Given the description of an element on the screen output the (x, y) to click on. 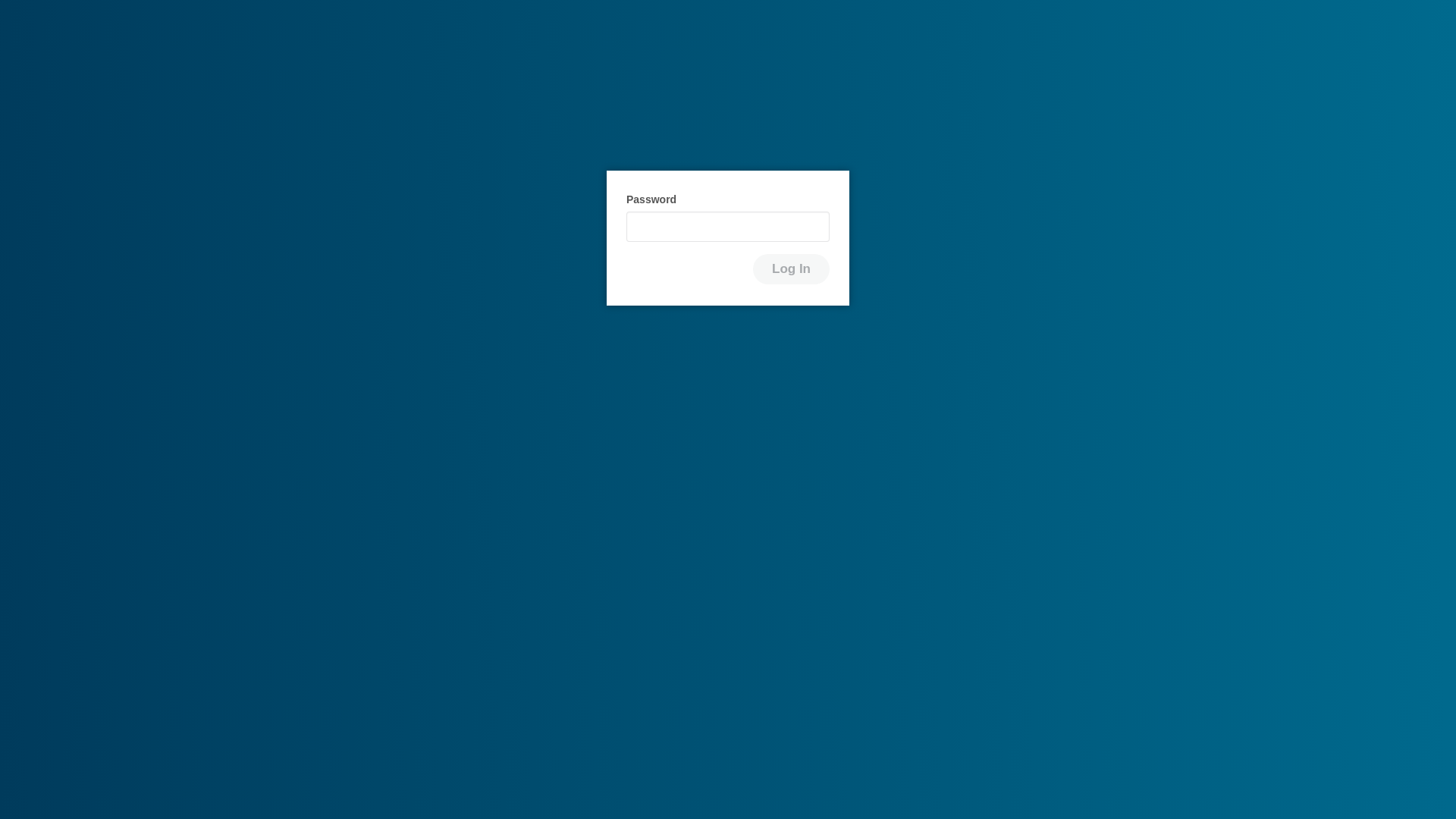
Team Oregon (727, 75)
Team Oregon (727, 75)
Log In (790, 268)
Log In (790, 268)
